Given the description of an element on the screen output the (x, y) to click on. 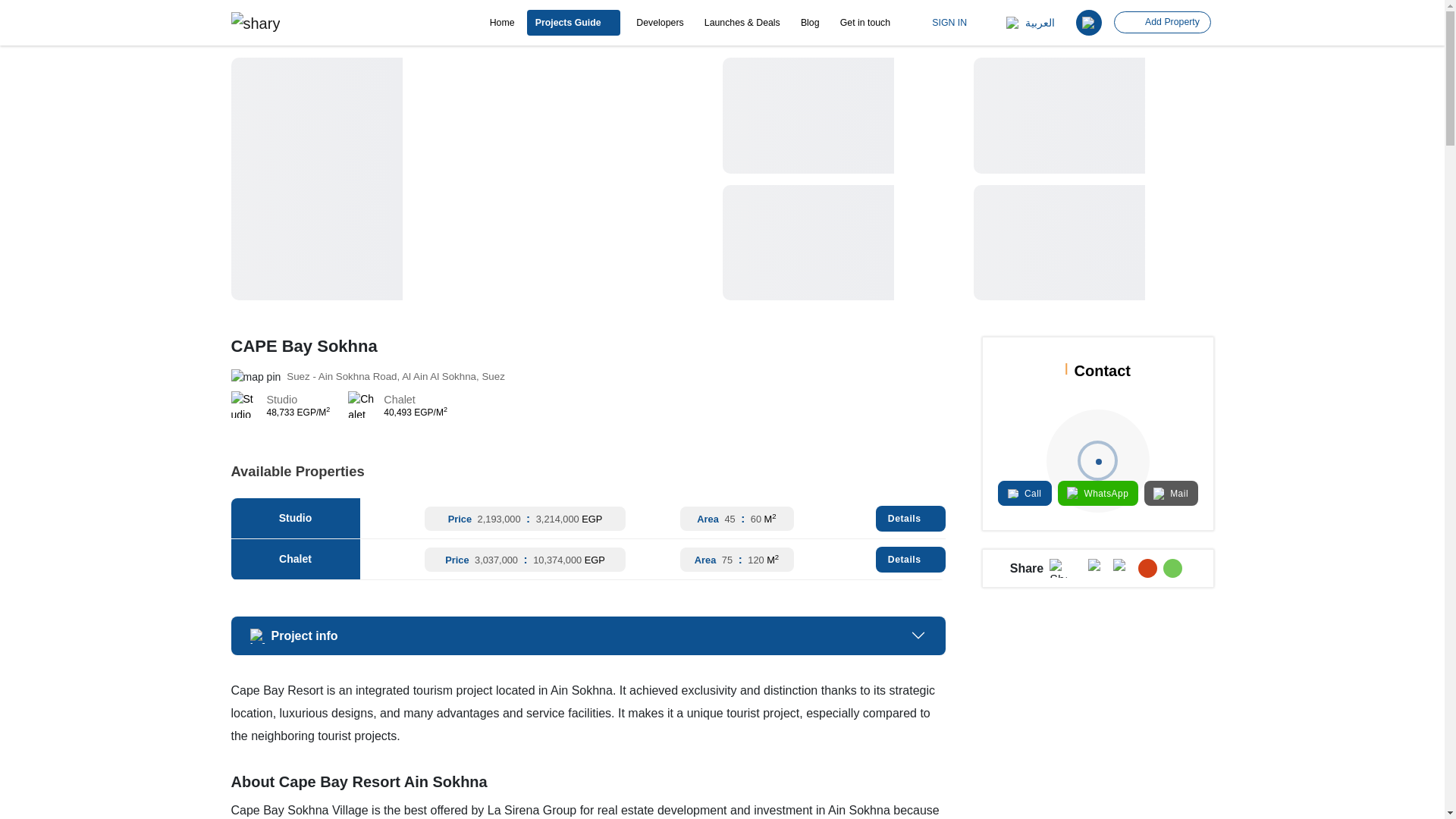
Developers (659, 22)
Home (501, 22)
Details (910, 559)
Get in touch (864, 22)
Projects Guide (573, 22)
Details (910, 518)
Add Property (1162, 22)
Blog (810, 22)
SIGN IN (943, 22)
Project info (587, 635)
